Given the description of an element on the screen output the (x, y) to click on. 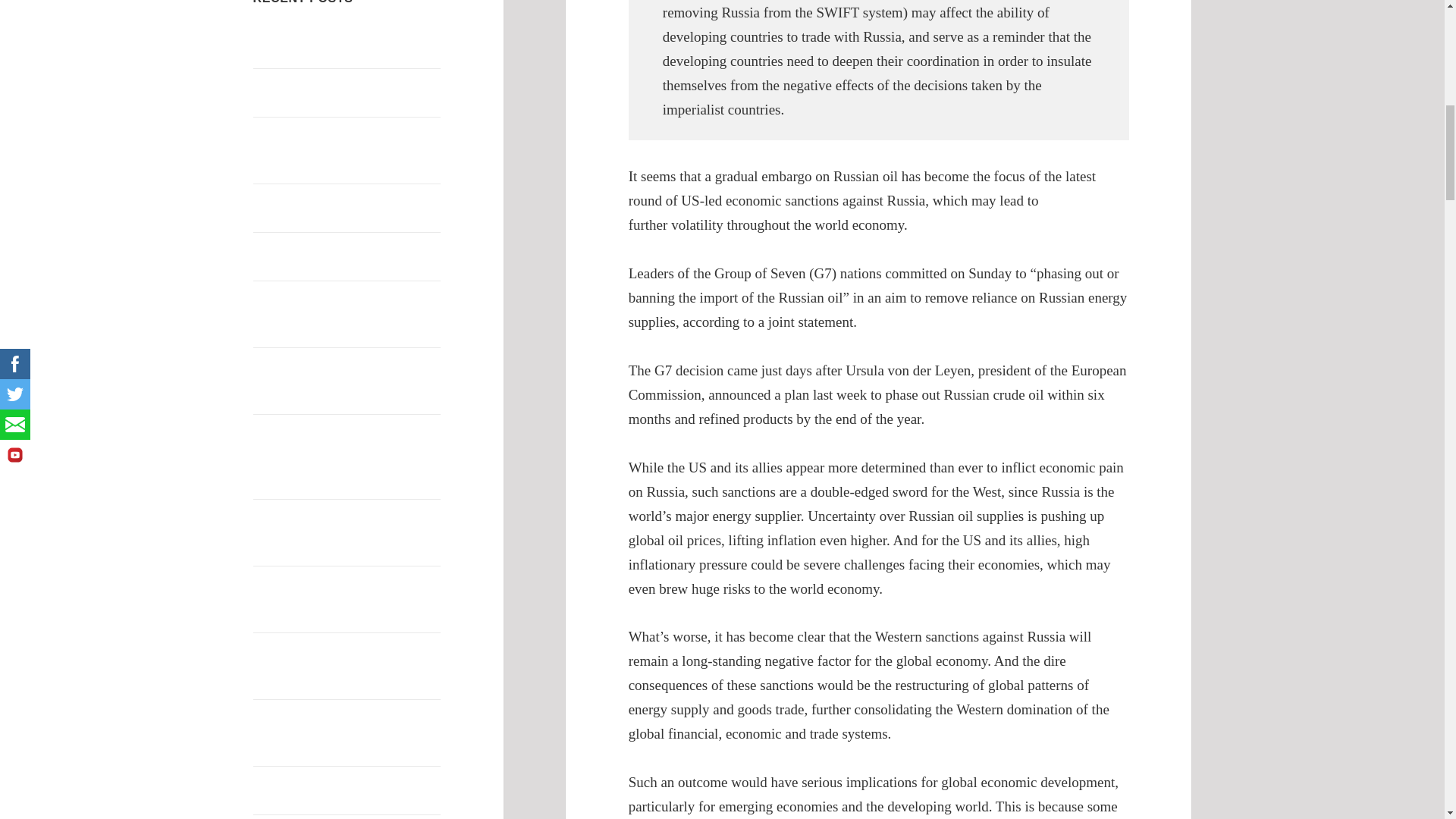
Xi meets Bangladeshi PM, bilateral ties elevated (339, 206)
